Given the description of an element on the screen output the (x, y) to click on. 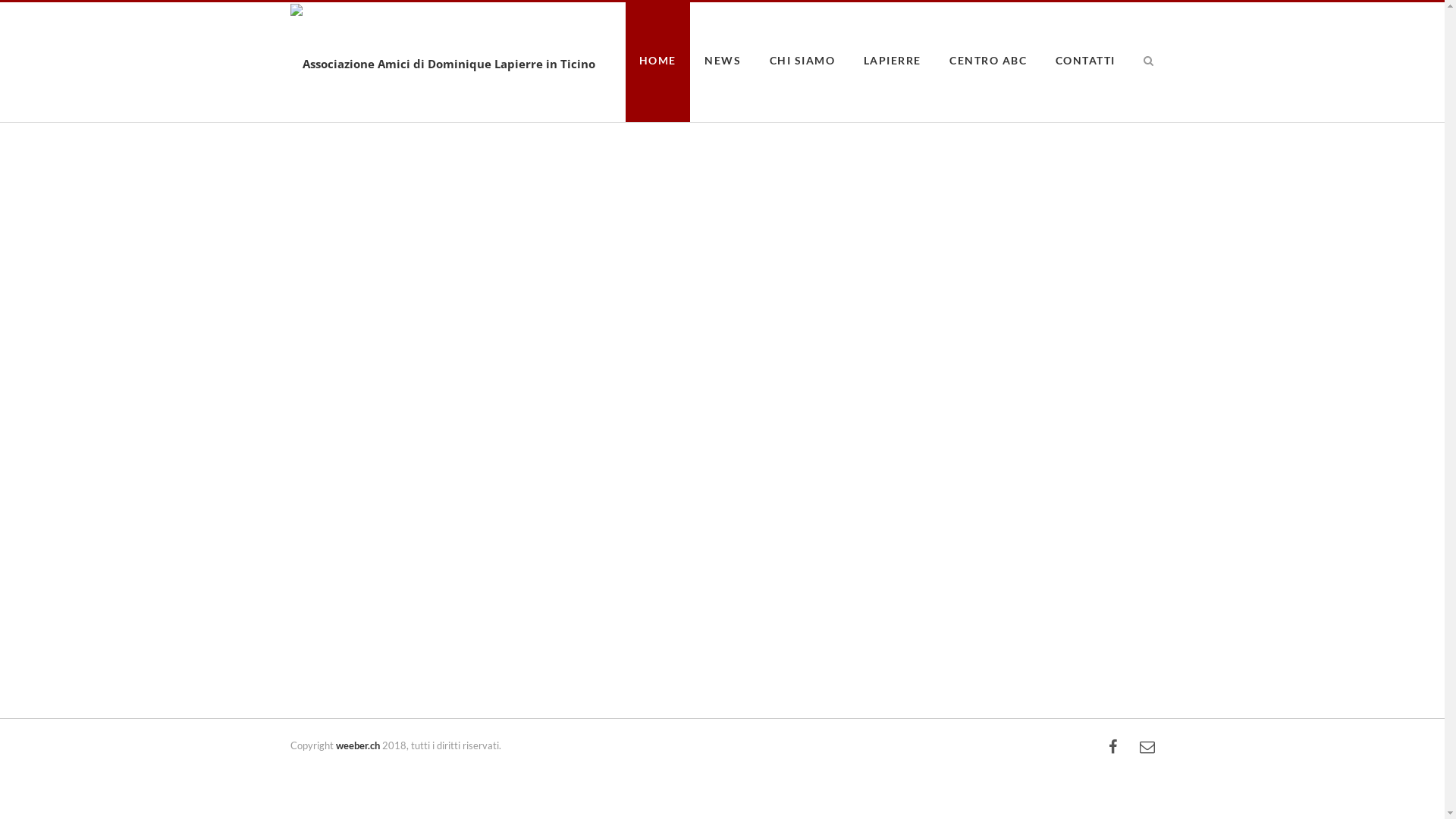
LAPIERRE Element type: text (891, 60)
CONTATTI Element type: text (1085, 60)
HOME Element type: text (656, 60)
weeber.ch Element type: text (357, 745)
CENTRO ABC Element type: text (987, 60)
CHI SIAMO Element type: text (801, 60)
NEWS Element type: text (722, 60)
